Given the description of an element on the screen output the (x, y) to click on. 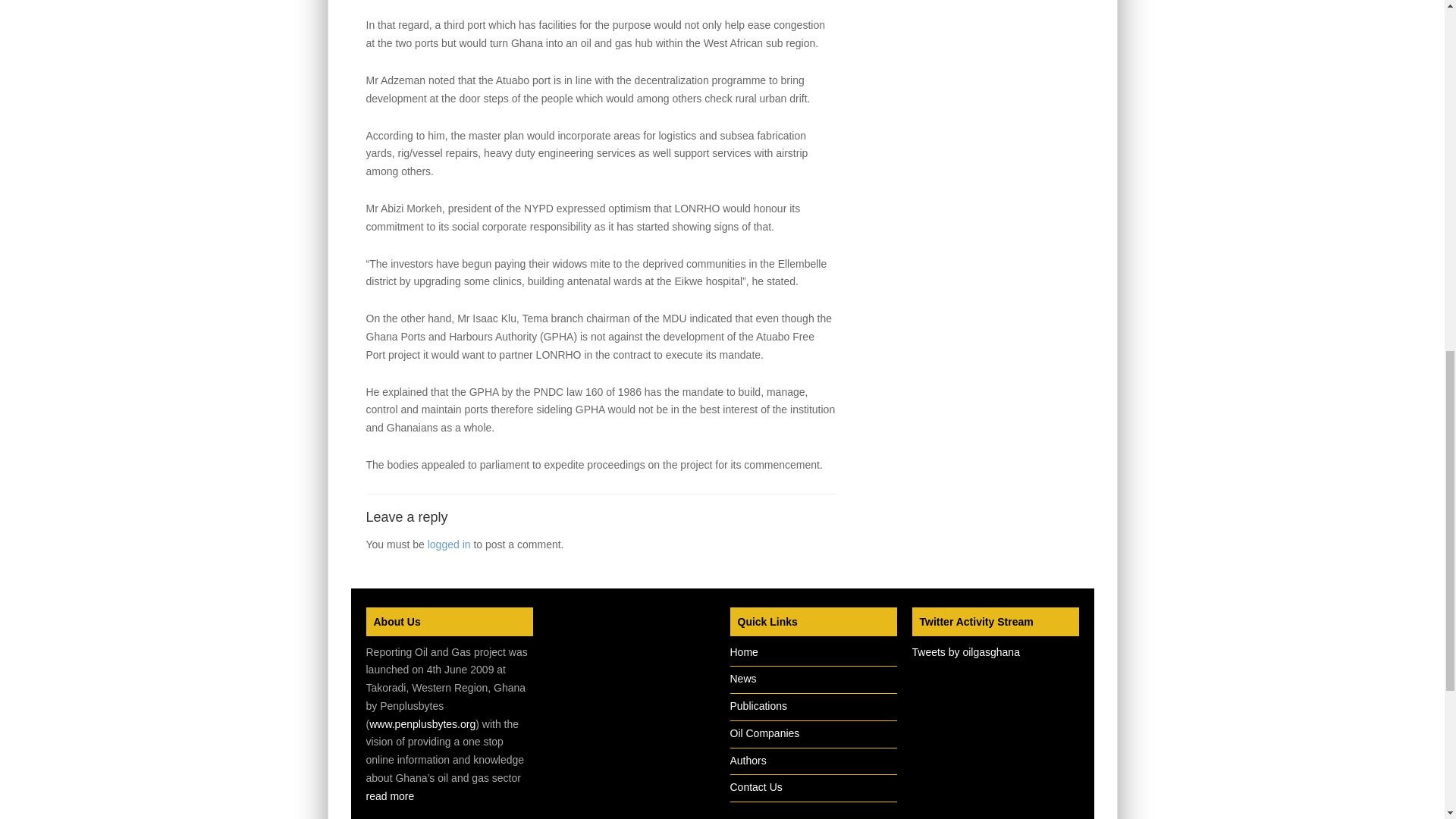
Publications (758, 705)
Tweets by oilgasghana (965, 652)
Oil Companies (764, 733)
logged in (449, 544)
read more (389, 796)
Authors (747, 760)
www.penplusbytes.org (422, 724)
Contact Us (755, 787)
News (742, 678)
Home (743, 652)
